Given the description of an element on the screen output the (x, y) to click on. 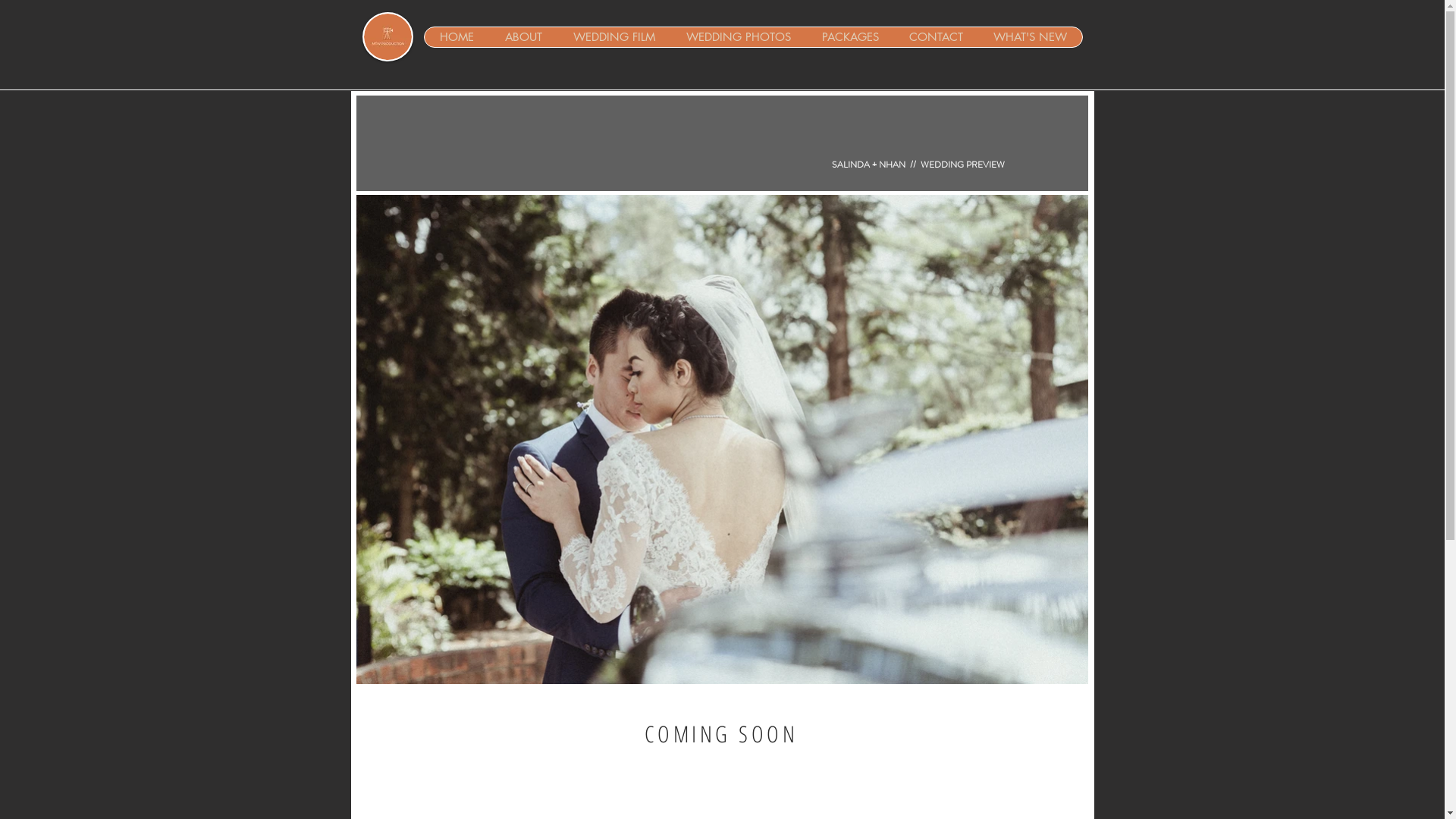
WHAT'S NEW Element type: text (1030, 37)
CONTACT Element type: text (935, 37)
ABOUT Element type: text (522, 37)
HOME Element type: text (456, 37)
WEDDING FILM Element type: text (612, 37)
PACKAGES Element type: text (849, 37)
WEDDING PHOTOS Element type: text (738, 37)
